Given the description of an element on the screen output the (x, y) to click on. 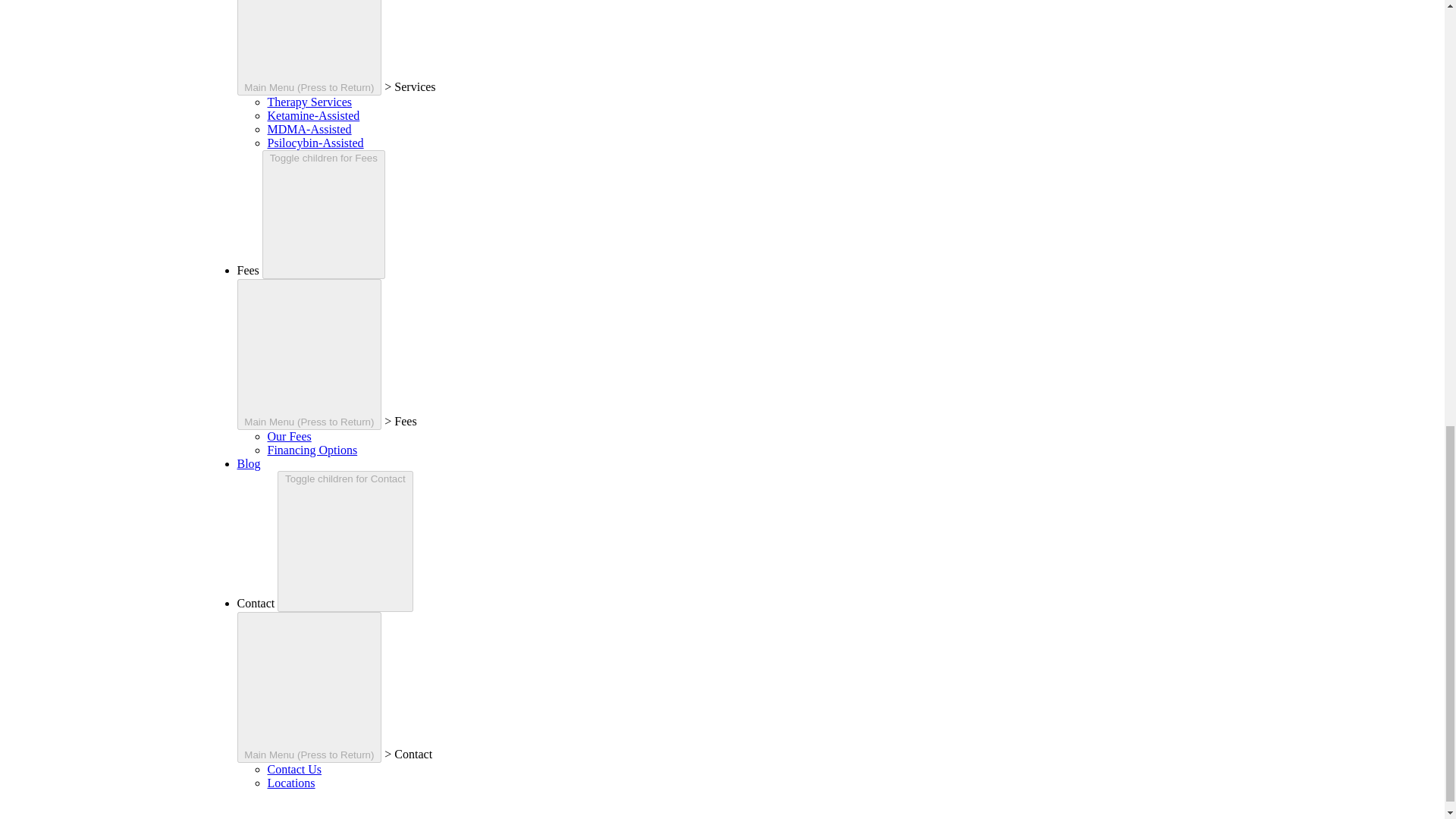
Toggle children for Fees (323, 214)
Toggle children for Contact (345, 540)
Blog (247, 463)
Ketamine-Assisted (312, 115)
Therapy Services (309, 101)
MDMA-Assisted (308, 128)
Psilocybin-Assisted (314, 142)
Financing Options (311, 449)
Our Fees (288, 436)
Locations (290, 782)
Contact Us (293, 768)
